Given the description of an element on the screen output the (x, y) to click on. 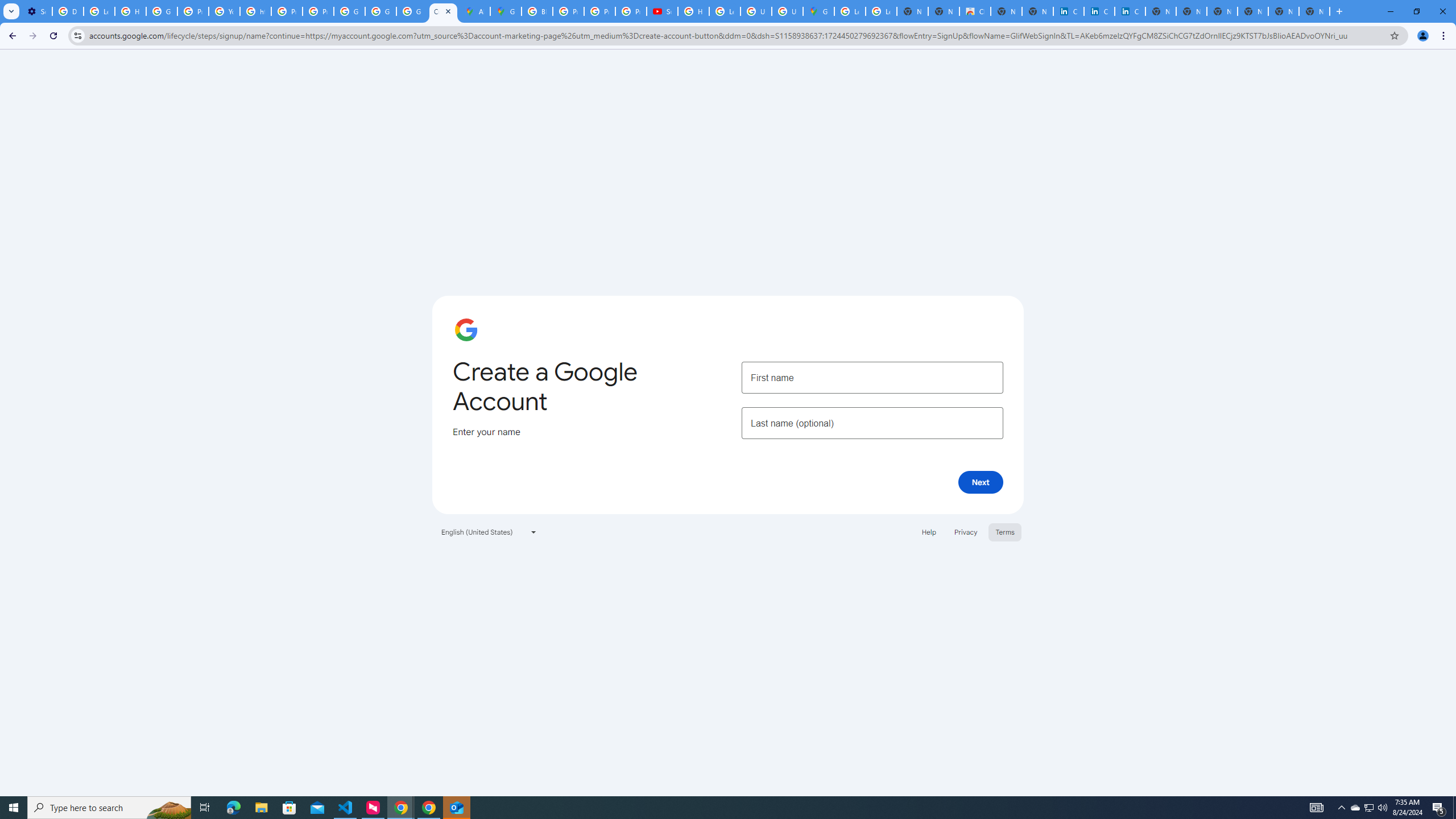
Privacy (965, 531)
Delete photos & videos - Computer - Google Photos Help (67, 11)
Google Maps (818, 11)
Next (980, 481)
How Chrome protects your passwords - Google Chrome Help (693, 11)
https://scholar.google.com/ (255, 11)
YouTube (223, 11)
Google Maps (505, 11)
Settings - Customize profile (36, 11)
